Given the description of an element on the screen output the (x, y) to click on. 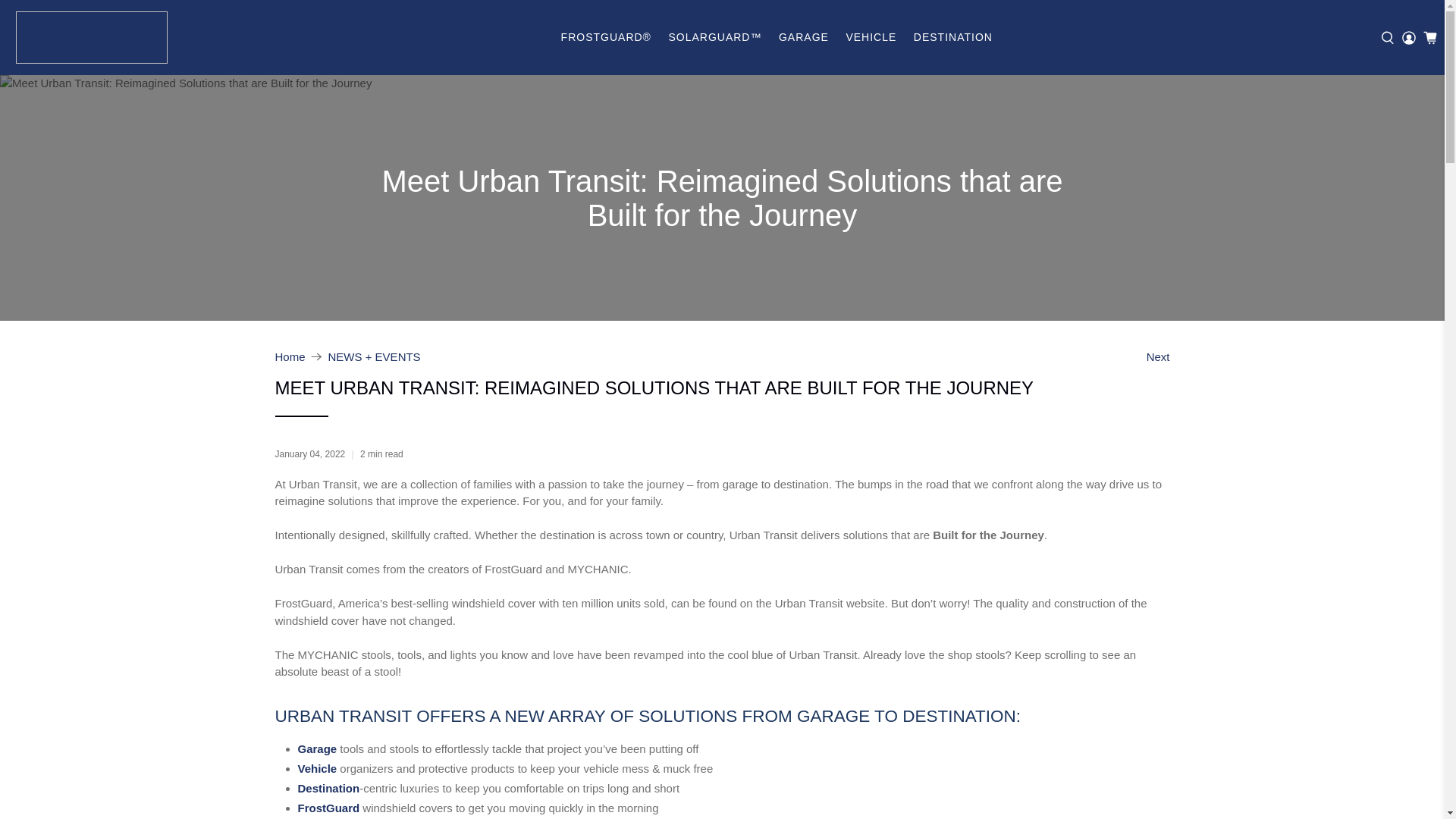
DESTINATION (953, 37)
GARAGE (803, 37)
Urban Transit FrostGuard Windshield Covers Collection (328, 807)
Next (1158, 356)
Urban Transit Garage Collection (316, 748)
VEHICLE (870, 37)
Urban Transit Destination Collection (328, 788)
Urban Transit Vehicle Collection (316, 768)
